Given the description of an element on the screen output the (x, y) to click on. 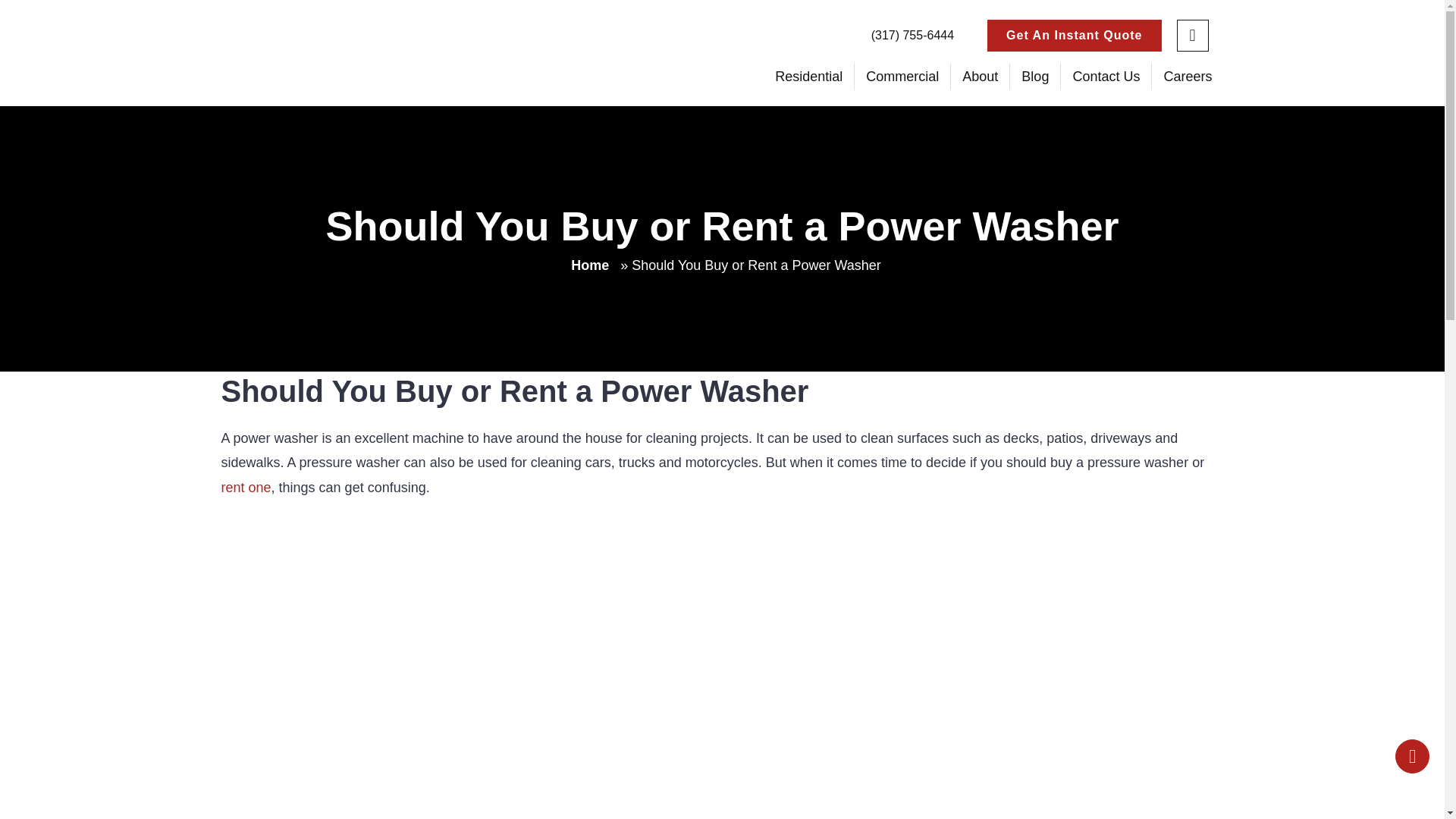
Residential (807, 76)
Careers (1187, 76)
Get An Instant Quote (1073, 35)
Commercial (902, 76)
Blog (1034, 76)
Contact Us (1106, 76)
About (979, 76)
